Given the description of an element on the screen output the (x, y) to click on. 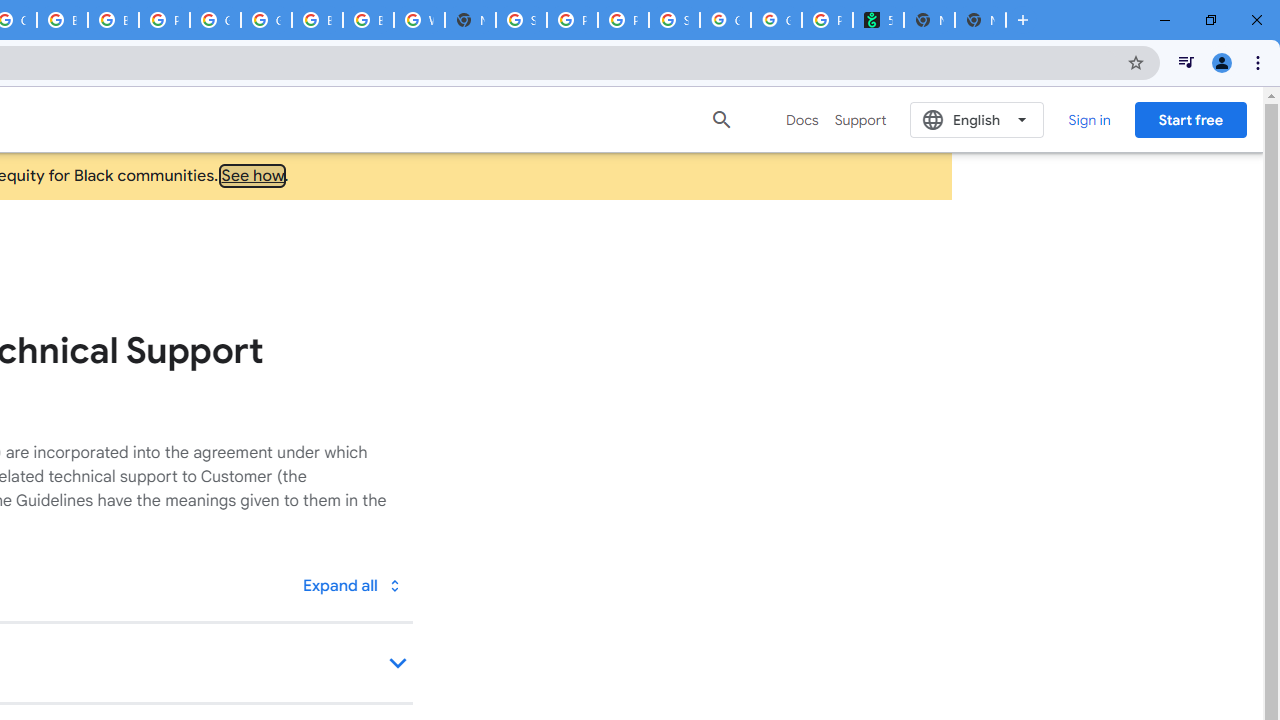
New Tab (470, 20)
Start free (1190, 119)
